Given the description of an element on the screen output the (x, y) to click on. 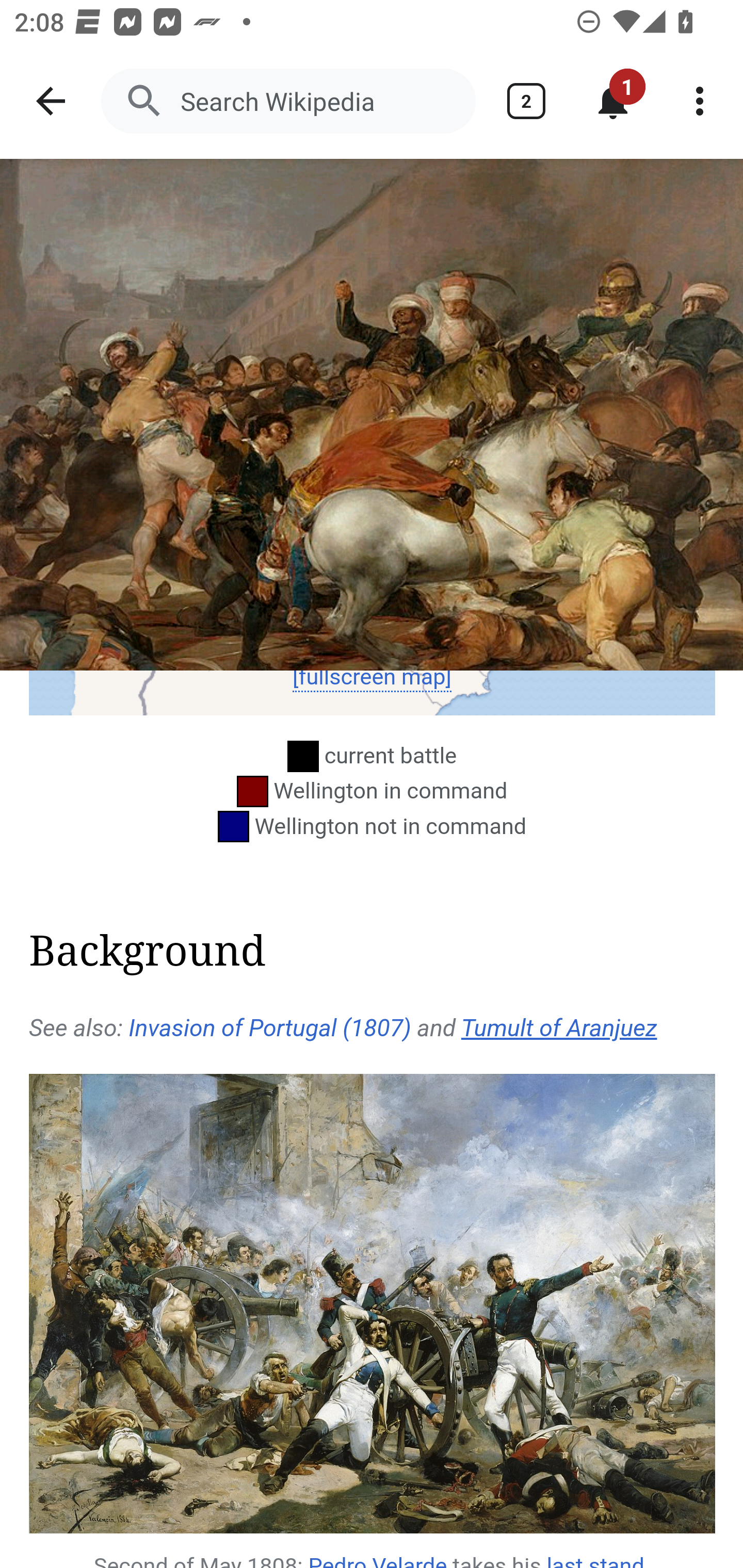
Show tabs 2 (525, 100)
Notifications 1 (612, 100)
Navigate up (50, 101)
More options (699, 101)
Search Wikipedia (288, 100)
Image: Dos de Mayo Uprising (371, 414)
[fullscreen map] (371, 677)
Invasion of Portugal (1807) (269, 1027)
Tumult of Aranjuez (559, 1027)
1280px-Dos_de_mayo%2C_por_Joaqu%C3%ADn_Sorolla (372, 1303)
